Given the description of an element on the screen output the (x, y) to click on. 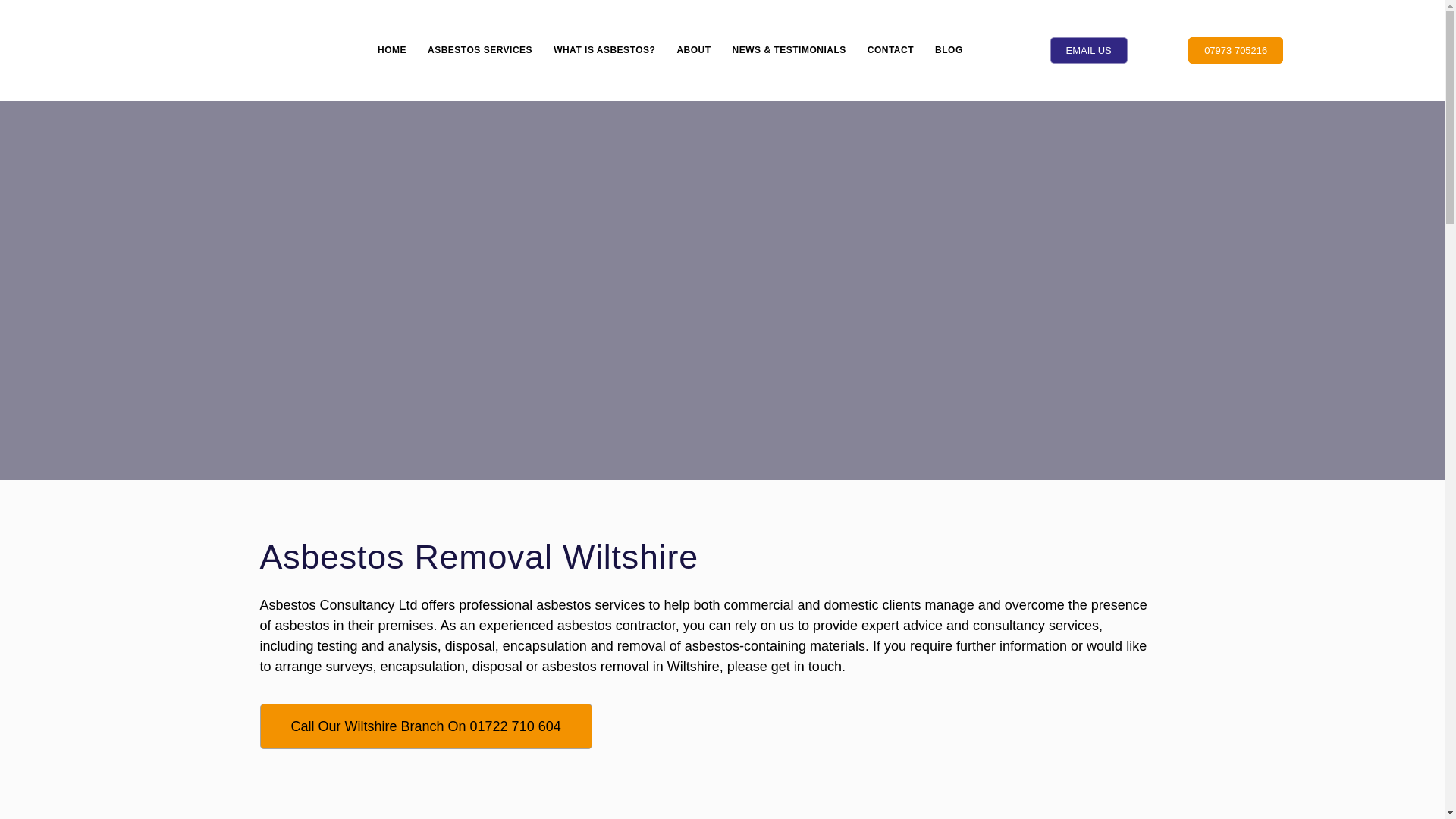
Call Our Wiltshire Branch On 01722 710 604 (425, 726)
HOME (391, 49)
07973 705216 (1235, 49)
ASBESTOS SERVICES (479, 49)
WHAT IS ASBESTOS? (604, 49)
BLOG (949, 49)
CONTACT (890, 49)
ABOUT (692, 49)
EMAIL US (1087, 49)
